Given the description of an element on the screen output the (x, y) to click on. 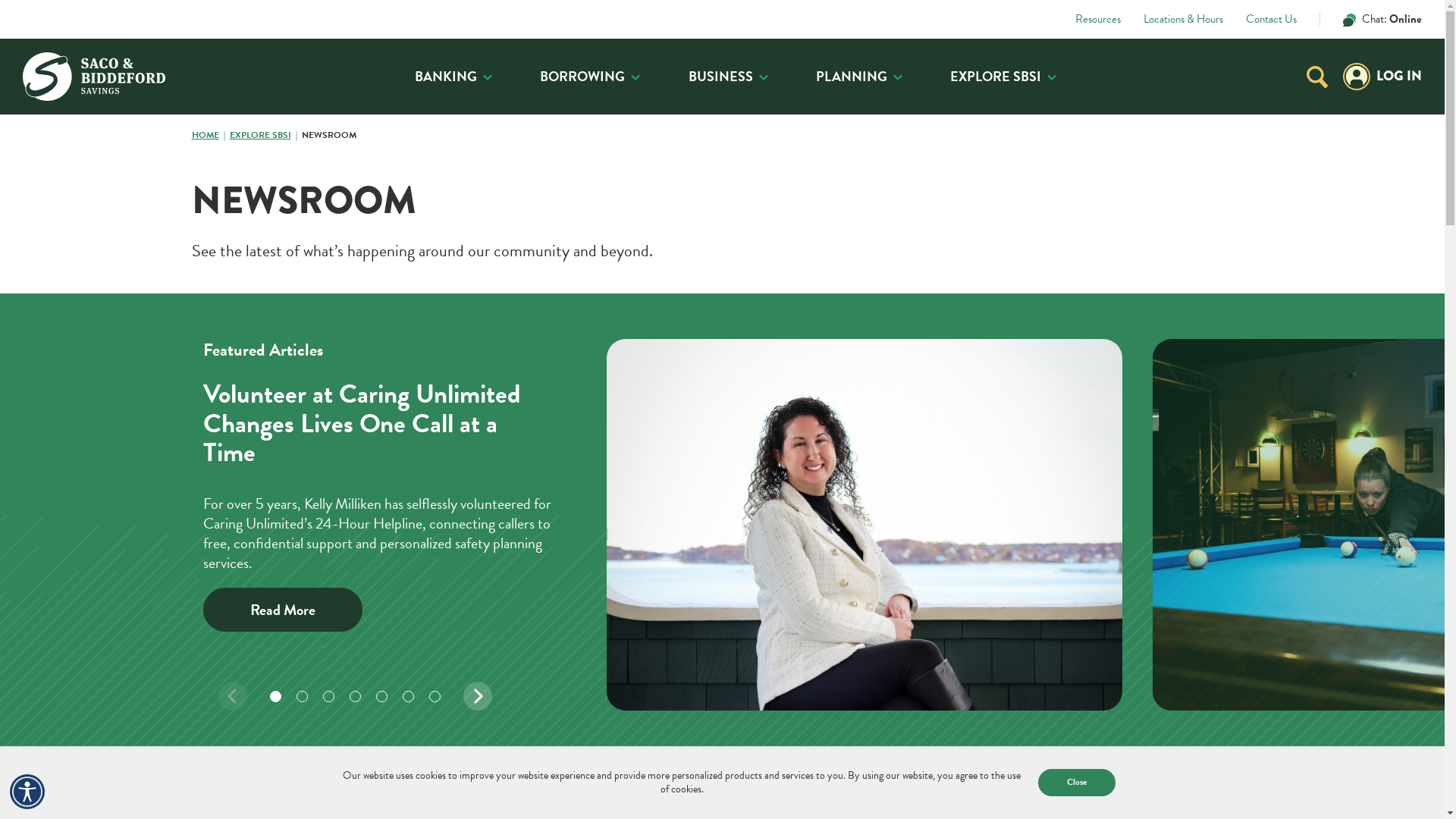
Home Loans Element type: text (434, 189)
BUSINESS Element type: text (728, 76)
Carousel Dot Element type: text (434, 696)
Read More Element type: text (282, 609)
Contact Us Element type: text (1270, 19)
HOME Element type: text (210, 135)
eStatements Login Element type: text (538, 252)
Borrowing Rates Element type: text (434, 234)
Carousel Dot Element type: text (354, 696)
Security Resources Element type: text (448, 329)
Calendar of Events Element type: text (686, 291)
Auto Loans Element type: text (686, 189)
Rates & Fees Element type: text (434, 245)
Learn More
  Element type: text (973, 329)
Carousel Dot Element type: text (275, 696)
Mobile Banking Element type: text (509, 358)
Borrowing Resources Element type: text (686, 234)
Business Online Banking Element type: text (538, 219)
Online Banking & Cash Management Element type: text (434, 283)
Careers Element type: text (434, 291)
S&B Financial Services Element type: text (434, 231)
Next Button Element type: text (476, 695)
Mortgage Lenders Element type: text (366, 318)
Credit & Debit Cards Element type: text (434, 200)
Checking Element type: text (434, 154)
BANKING Element type: text (453, 76)
Carousel Dot Element type: text (381, 696)
Business Resources Element type: text (686, 270)
Close Element type: text (1076, 782)
Carousel Dot Element type: text (301, 696)
Chat: Online Element type: text (1370, 19)
BORROWING Element type: text (589, 76)
Learn More
  Element type: text (992, 283)
Personal Online Banking Element type: text (538, 186)
Learn More
  Element type: text (1081, 322)
Carousel Dot Element type: text (328, 696)
Locations & Hours Element type: text (1183, 19)
Digital Banking Element type: text (686, 200)
Banking Resources Element type: text (686, 245)
Search Element type: hover (1316, 76)
Savings Element type: text (686, 154)
Online Banking Element type: text (409, 358)
LOG IN Element type: text (1382, 76)
Previous Button Element type: text (232, 695)
Paquin & Carroll Insurance Element type: text (686, 231)
EXPLORE SBSI Element type: text (265, 135)
PLANNING Element type: text (858, 76)
Calculators Element type: text (350, 329)
Carousel Dot Element type: text (407, 696)
Learn More
  Element type: text (1081, 291)
Search Element type: hover (1316, 76)
Learn More
  Element type: text (1081, 297)
EXPLORE SBSI Element type: text (1003, 76)
Business Credit & Debit Cards Element type: text (434, 212)
Learn More
  Element type: text (1081, 303)
Search Element type: text (625, 250)
Resources Element type: text (1097, 19)
